Given the description of an element on the screen output the (x, y) to click on. 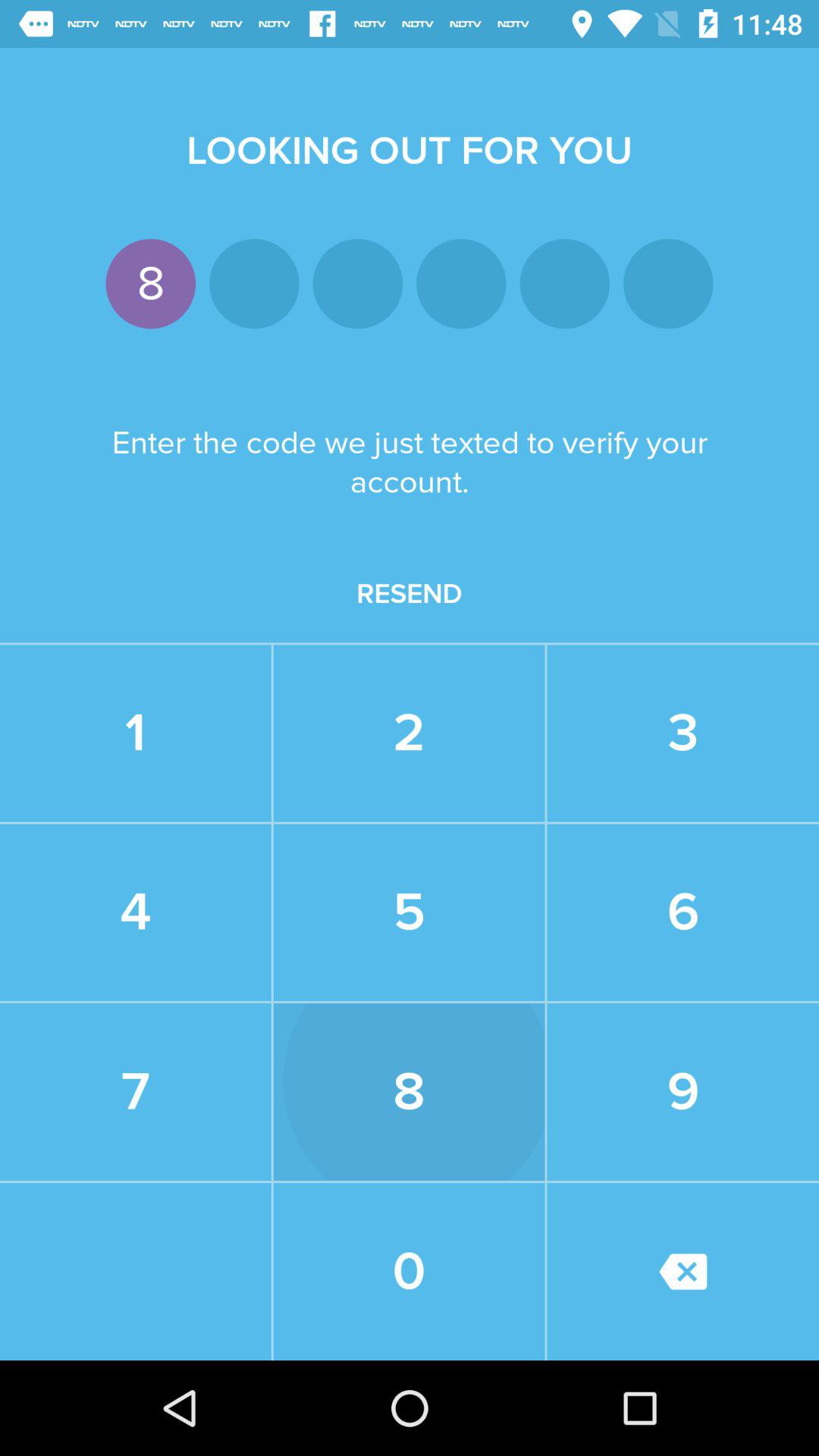
turn on the resend icon (409, 593)
